Given the description of an element on the screen output the (x, y) to click on. 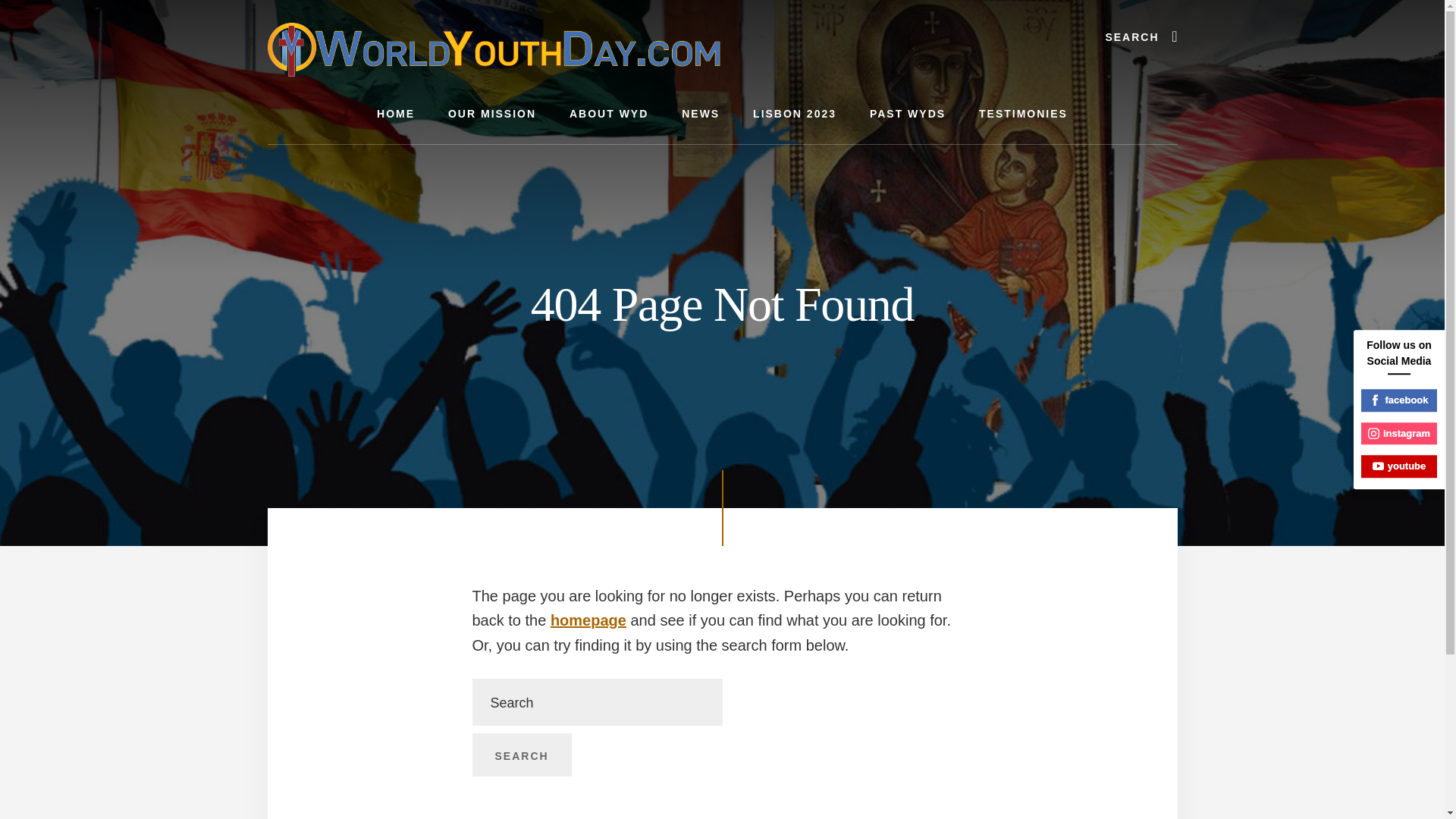
Search (520, 755)
LISBON 2023 (794, 114)
youtube (1399, 466)
homepage (588, 619)
NEWS (700, 114)
HOME (395, 114)
PAST WYDS (907, 114)
TESTIMONIES (1023, 114)
ABOUT WYD (608, 114)
OUR MISSION (491, 114)
Search (520, 755)
